Given the description of an element on the screen output the (x, y) to click on. 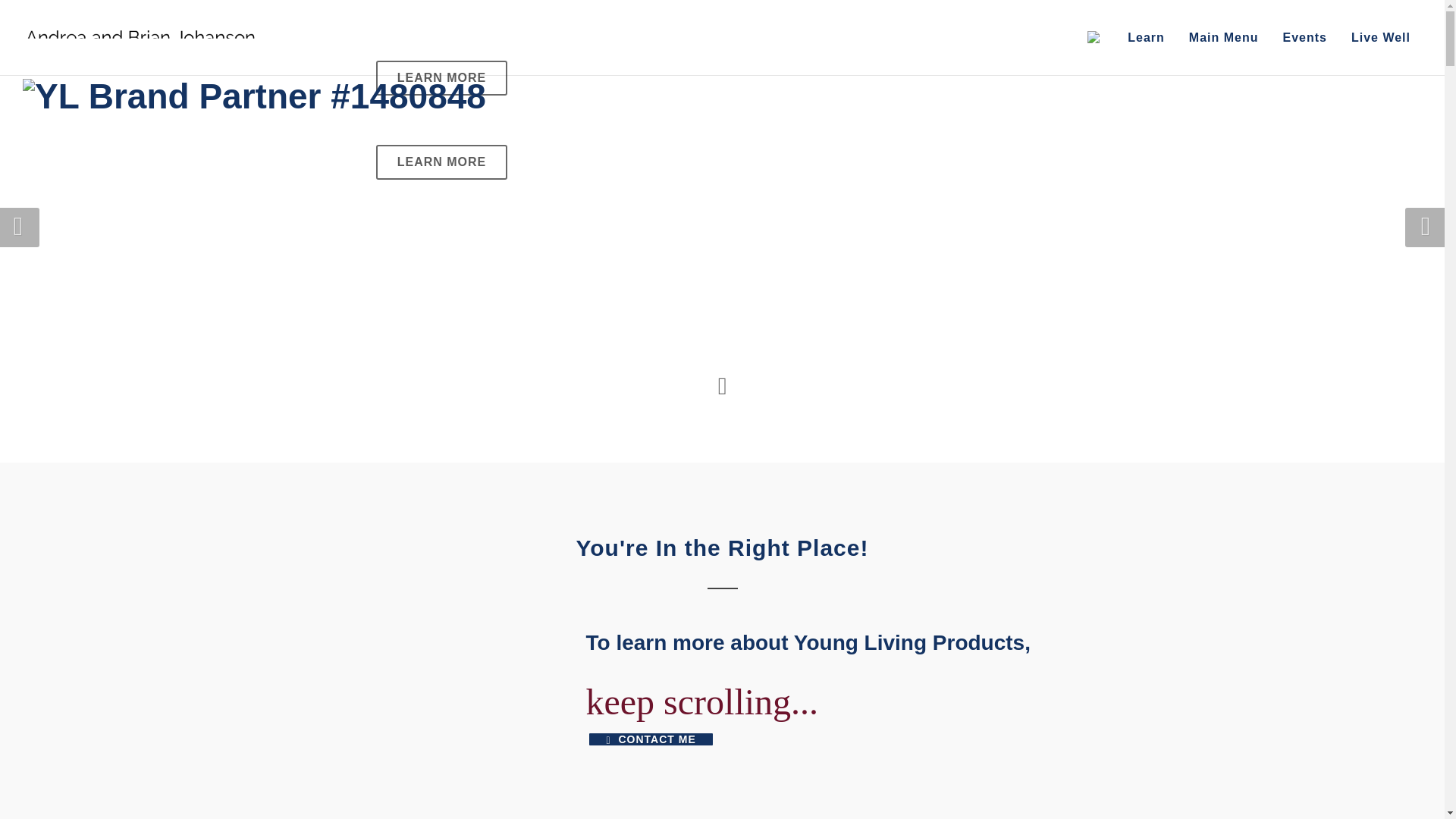
LEARN MORE (441, 77)
Main Menu (1223, 38)
CONTACT ME (650, 739)
Live Well (1380, 38)
LEARN MORE (441, 161)
